Given the description of an element on the screen output the (x, y) to click on. 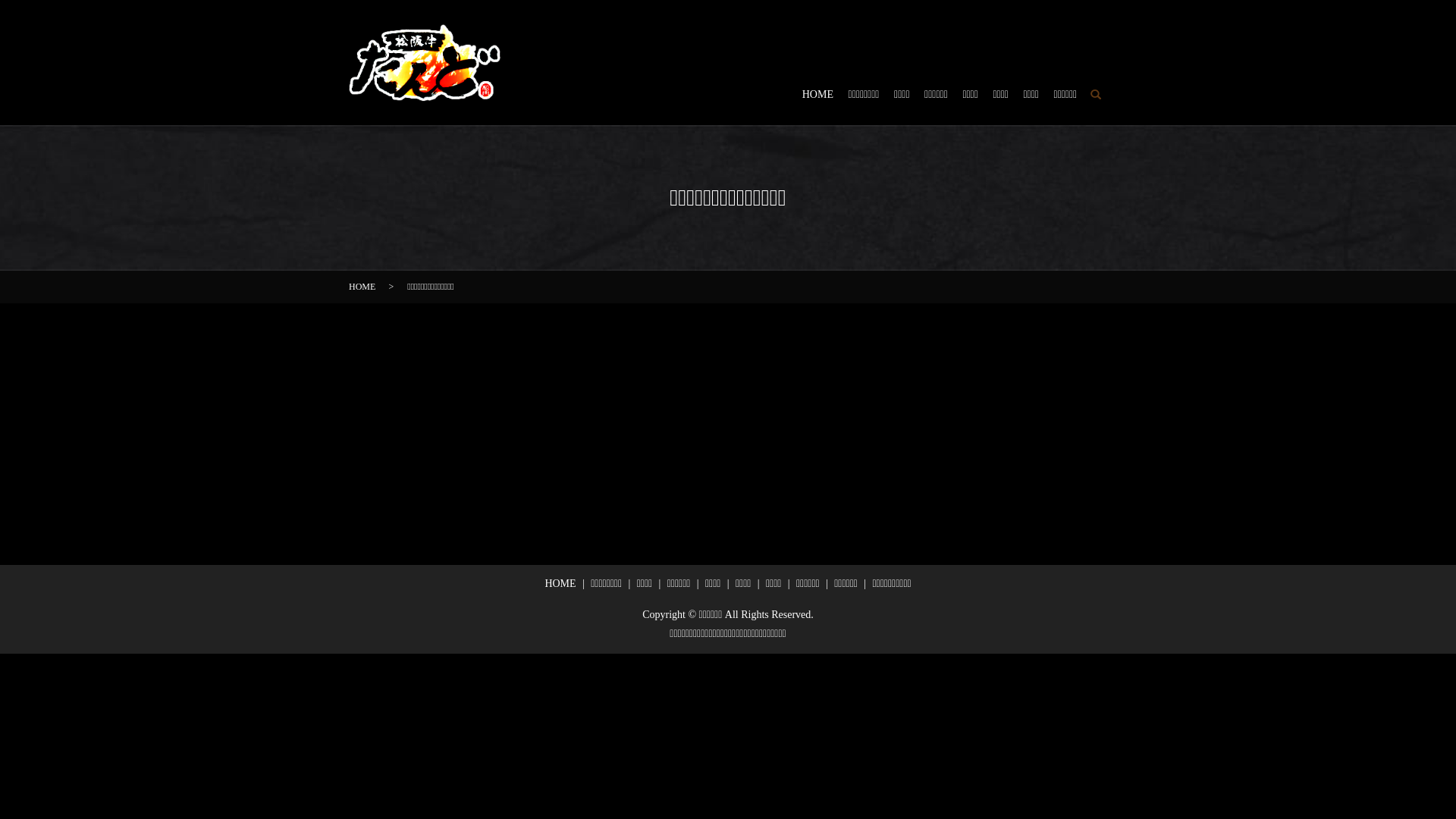
HOME Element type: text (361, 286)
HOME Element type: text (817, 94)
search Element type: text (1095, 94)
HOME Element type: text (560, 582)
